Given the description of an element on the screen output the (x, y) to click on. 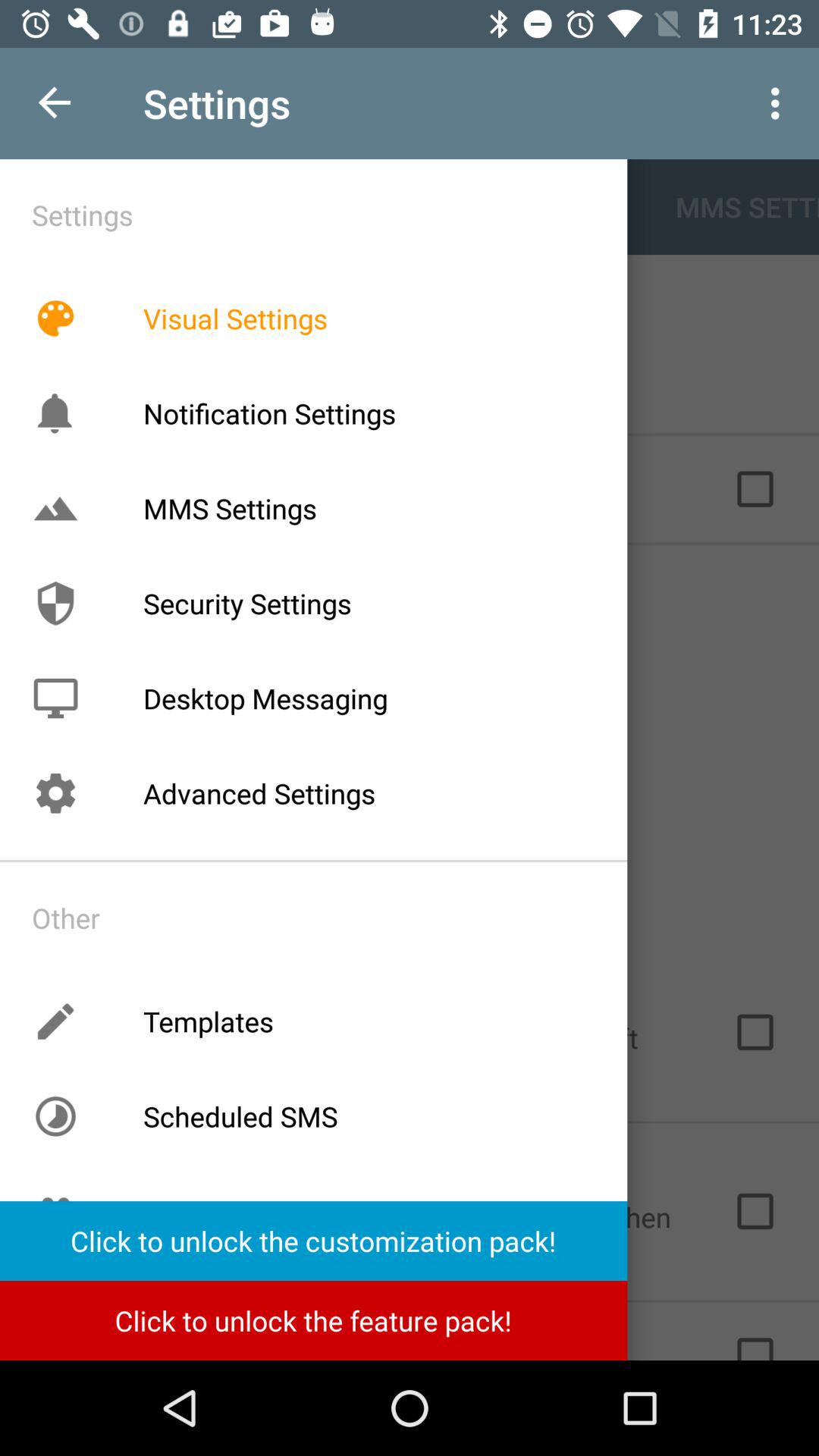
click on the icon above settings (55, 698)
click on the 3 vertical dots at the top right corner of the page (779, 103)
